Given the description of an element on the screen output the (x, y) to click on. 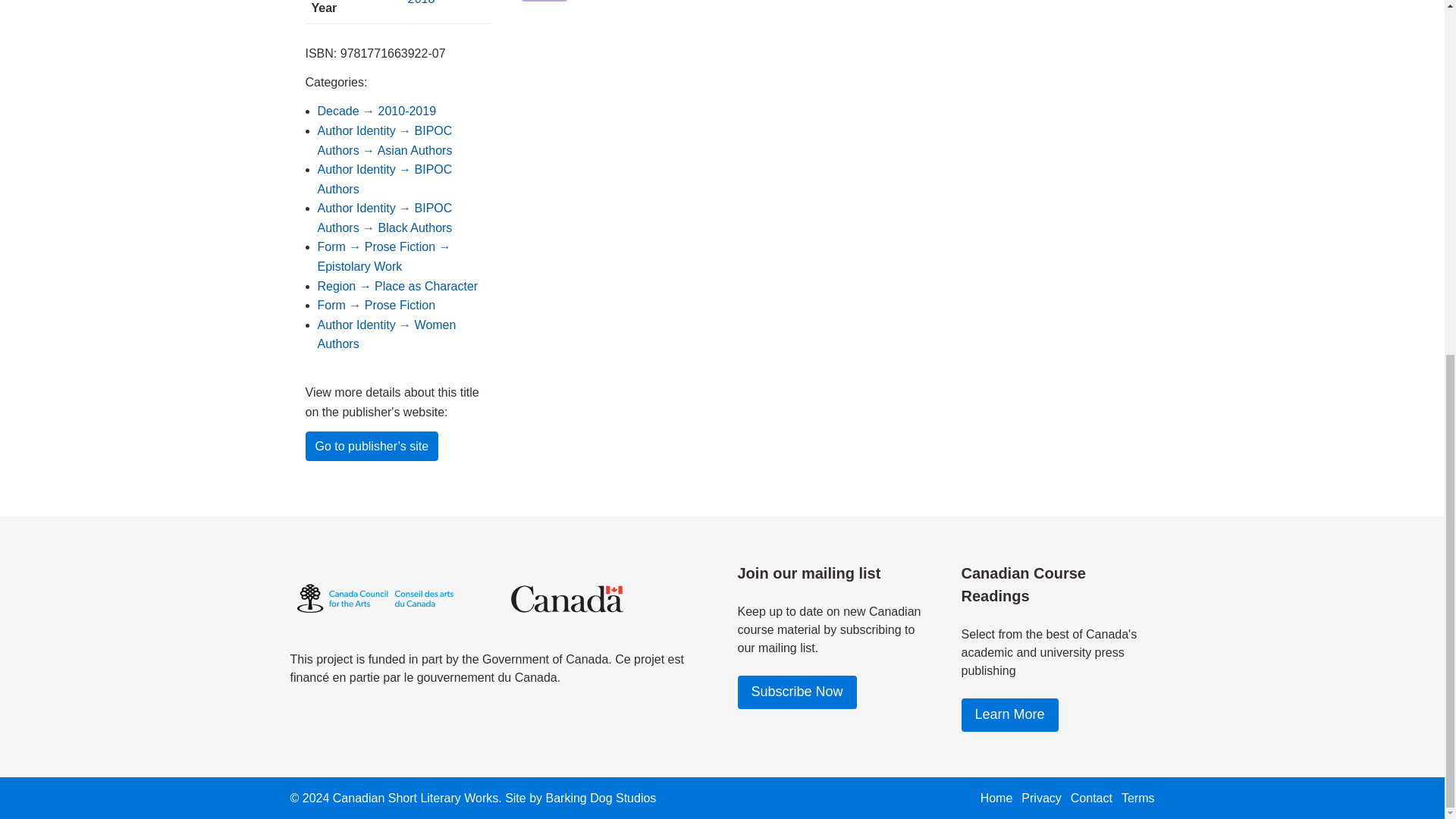
Contact (1091, 797)
Barking Dog Studios (601, 797)
Learn More (1009, 715)
Subscribe Now (796, 692)
2018 (421, 2)
Add (544, 0)
Home (996, 797)
Privacy (1041, 797)
